Given the description of an element on the screen output the (x, y) to click on. 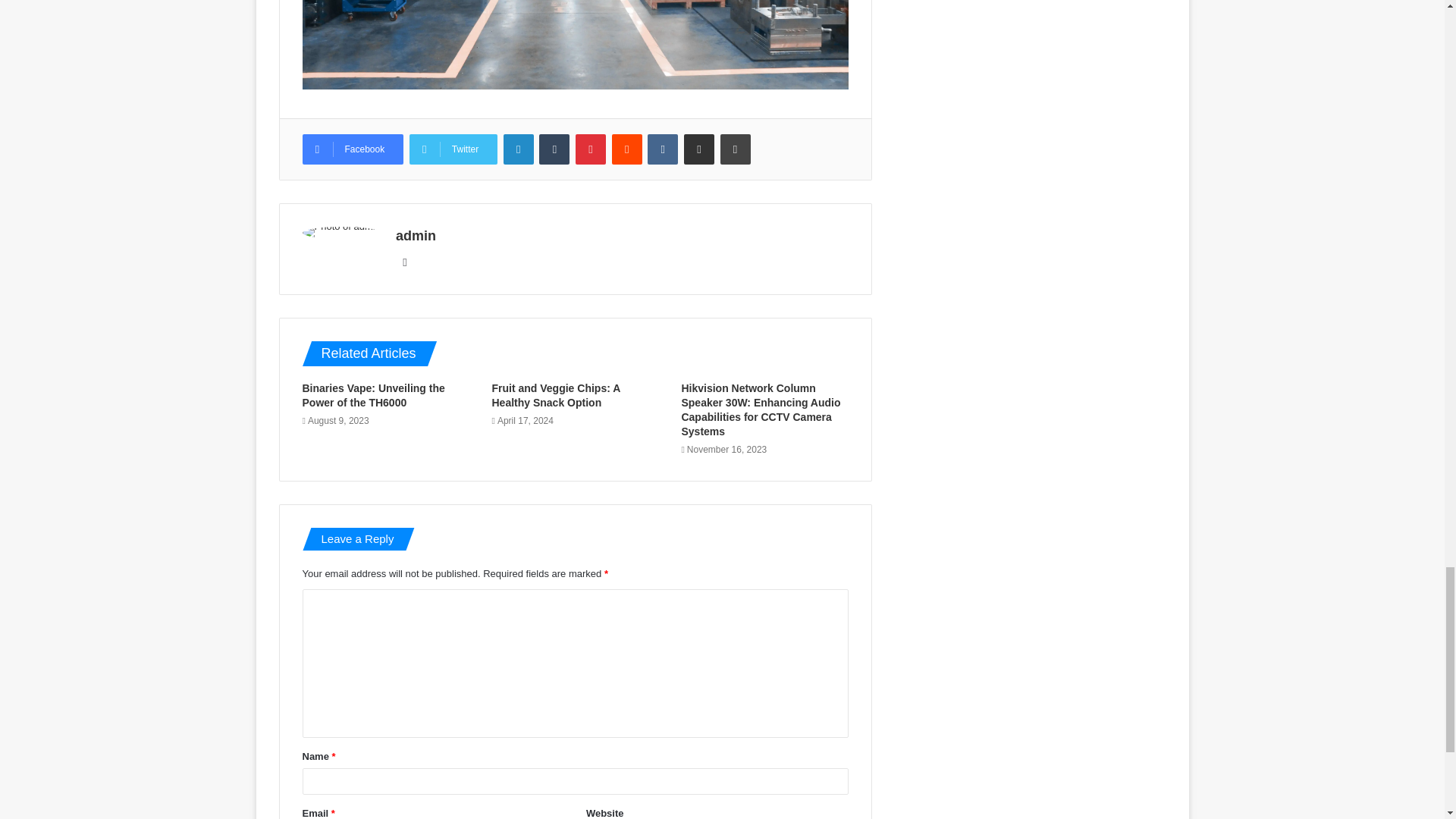
VKontakte (662, 149)
Website (404, 262)
LinkedIn (518, 149)
admin (415, 235)
LinkedIn (518, 149)
Share via Email (699, 149)
Facebook (352, 149)
VKontakte (662, 149)
Twitter (453, 149)
Twitter (453, 149)
Binaries Vape: Unveiling the Power of the TH6000 (372, 395)
Tumblr (553, 149)
Print (735, 149)
Facebook (352, 149)
